Given the description of an element on the screen output the (x, y) to click on. 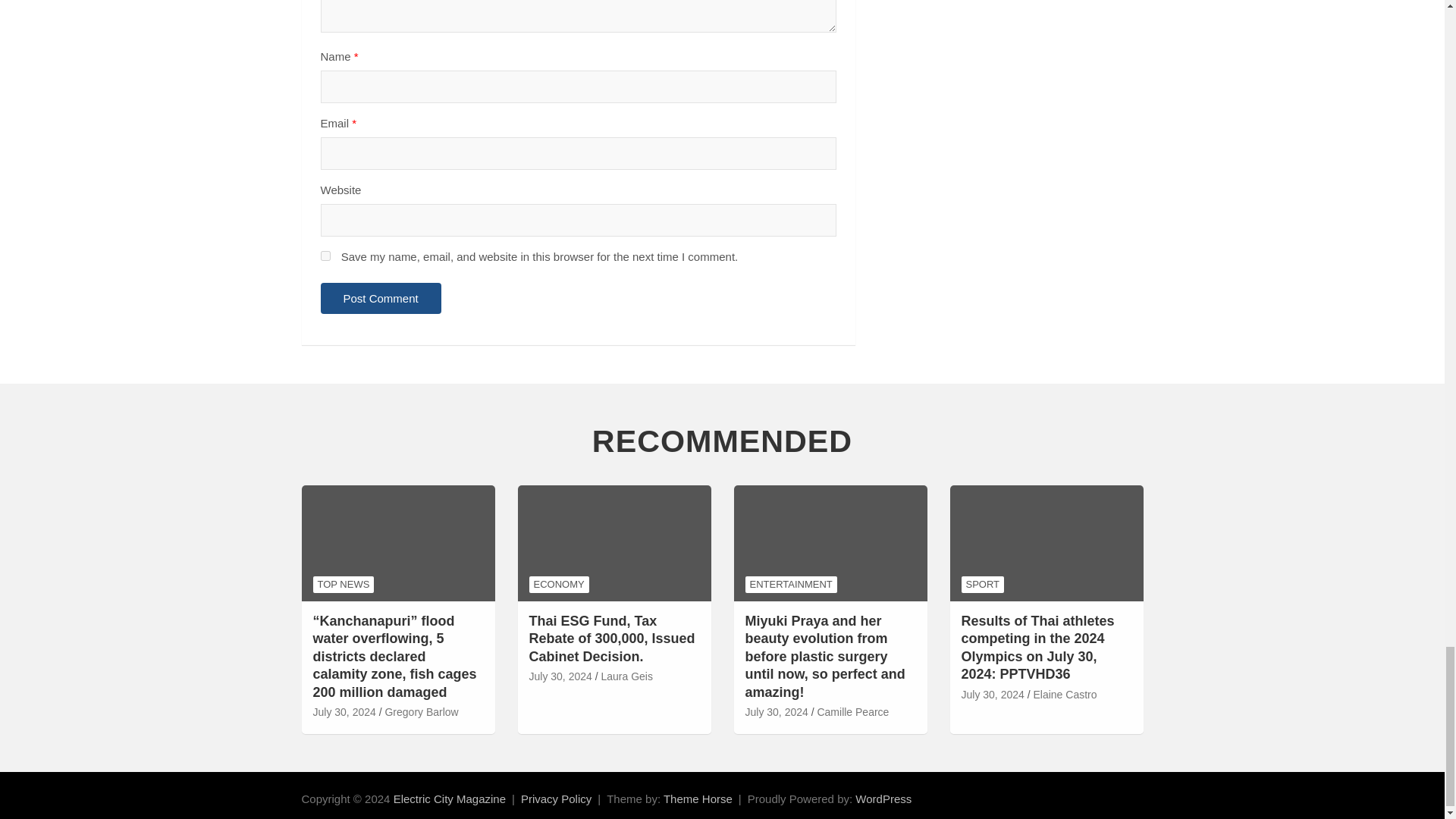
July 30, 2024 (344, 712)
WordPress (883, 798)
Gregory Barlow (421, 712)
TOP NEWS (343, 584)
yes (325, 255)
Post Comment (380, 297)
Electric City Magazine (449, 798)
Theme Horse (697, 798)
Post Comment (380, 297)
